Given the description of an element on the screen output the (x, y) to click on. 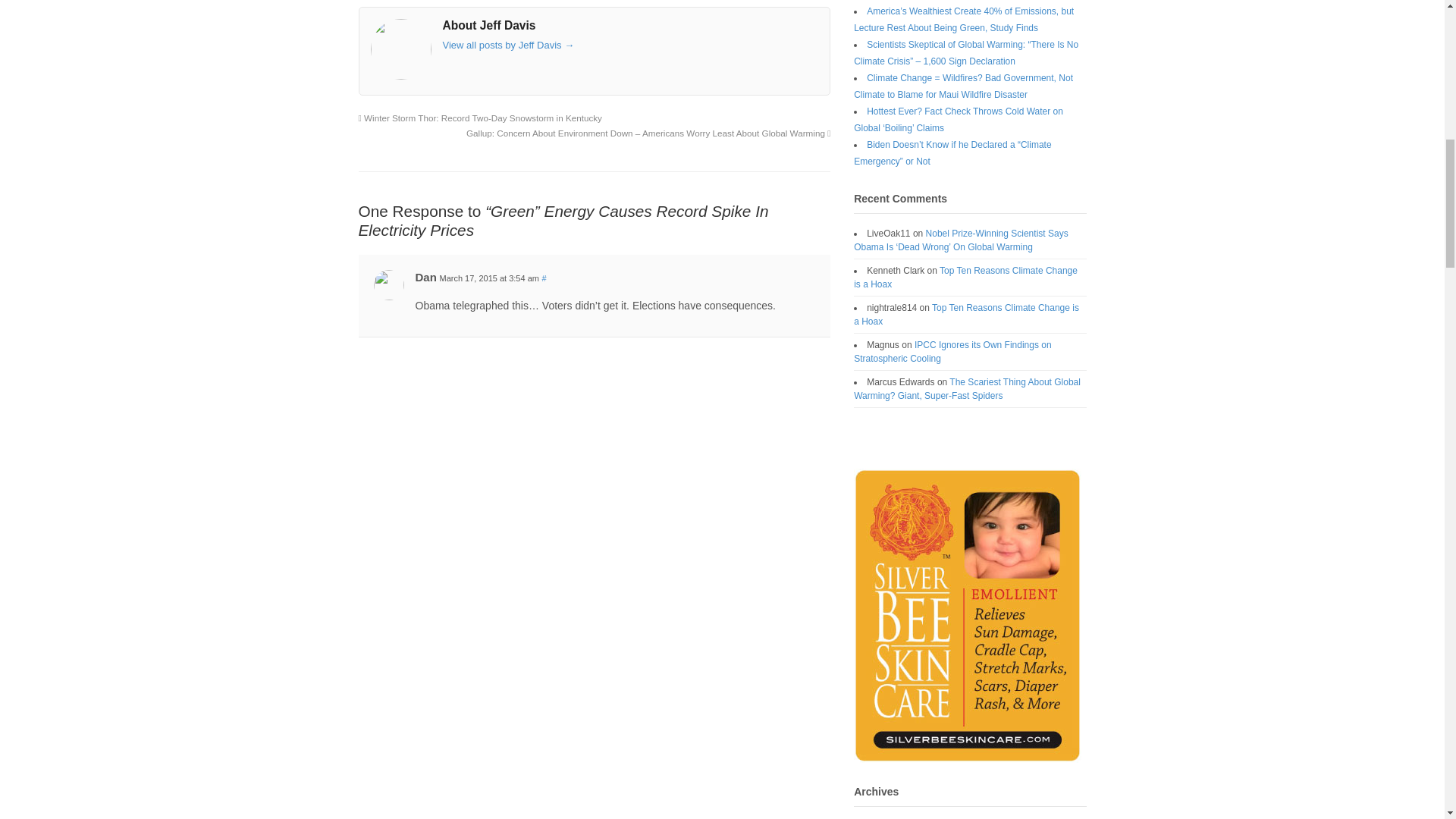
IPCC Ignores its Own Findings on Stratospheric Cooling (952, 351)
Winter Storm Thor: Record Two-Day Snowstorm in Kentucky (479, 117)
Top Ten Reasons Climate Change is a Hoax (965, 314)
Top Ten Reasons Climate Change is a Hoax (965, 277)
